Given the description of an element on the screen output the (x, y) to click on. 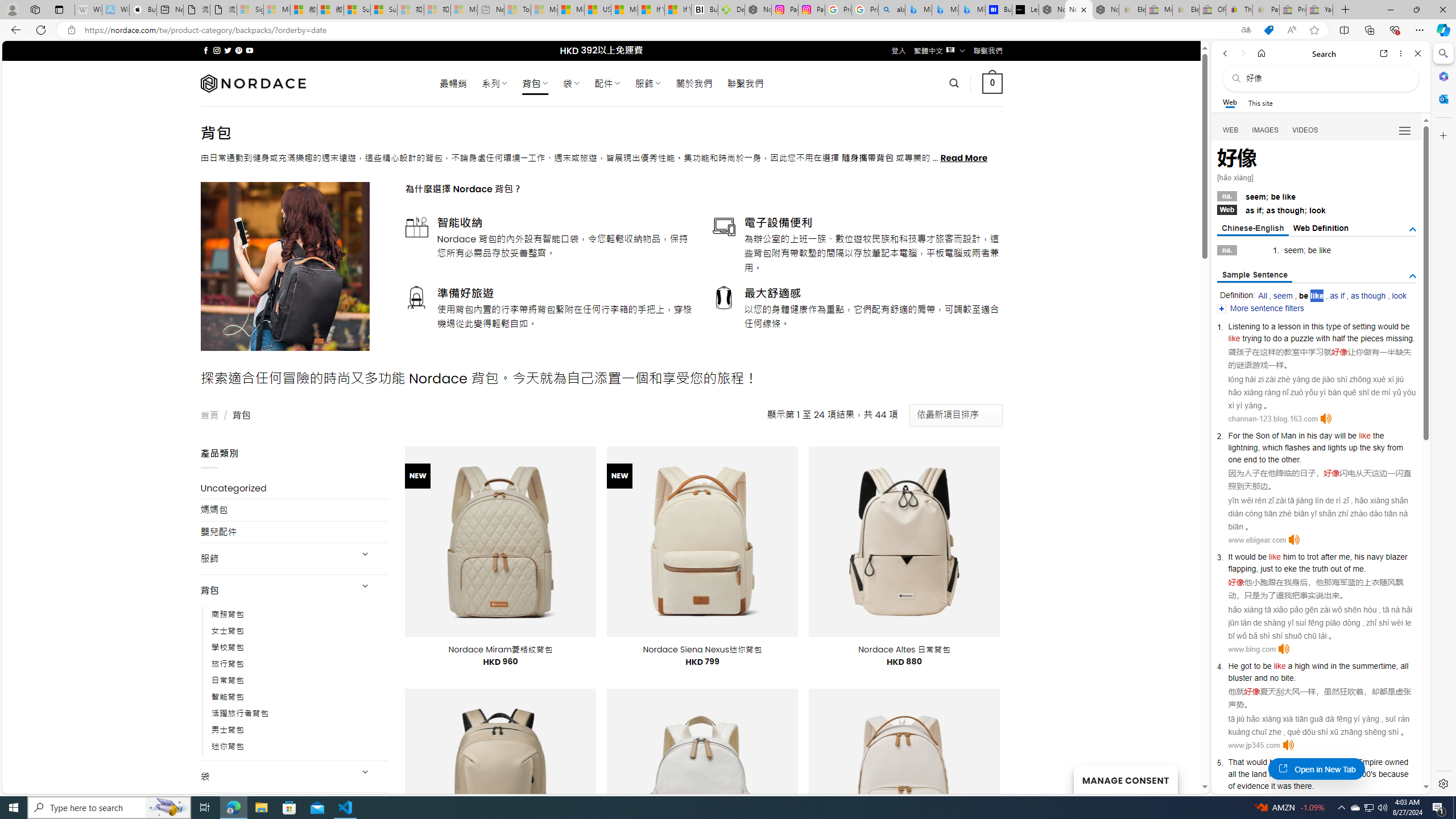
it (1273, 785)
  0   (992, 83)
half (1338, 338)
got (1246, 665)
